Given the description of an element on the screen output the (x, y) to click on. 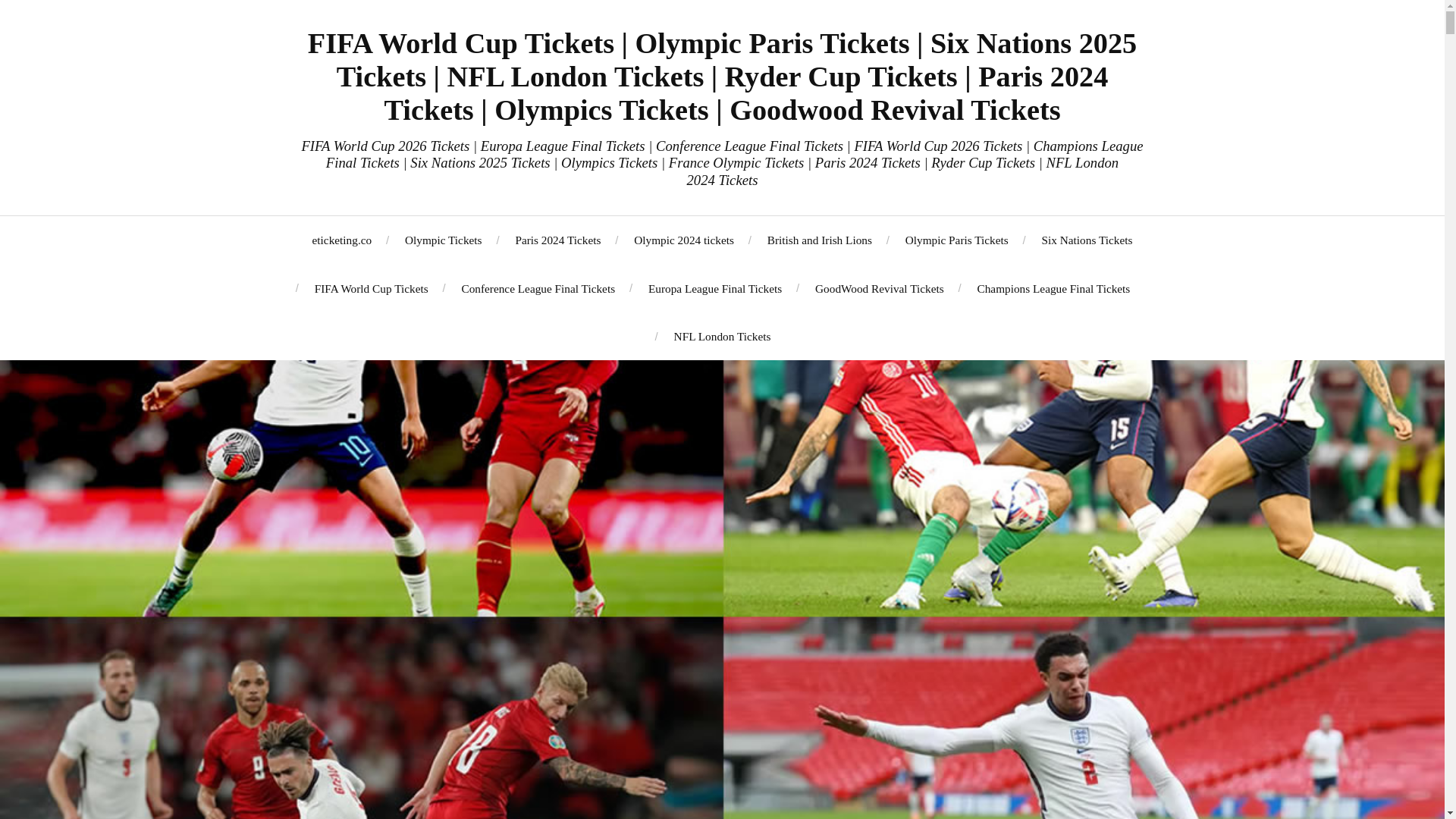
FIFA World Cup Tickets (371, 288)
Conference League Final Tickets (537, 288)
Europa League Final Tickets (714, 288)
Six Nations Tickets (1087, 239)
British and Irish Lions (819, 239)
Olympic Tickets (442, 239)
Paris 2024 Tickets (557, 239)
NFL London Tickets (722, 336)
GoodWood Revival Tickets (879, 288)
Olympic Paris Tickets (957, 239)
Champions League Final Tickets (1052, 288)
Olympic 2024 tickets (683, 239)
eticketing.co (342, 239)
